Given the description of an element on the screen output the (x, y) to click on. 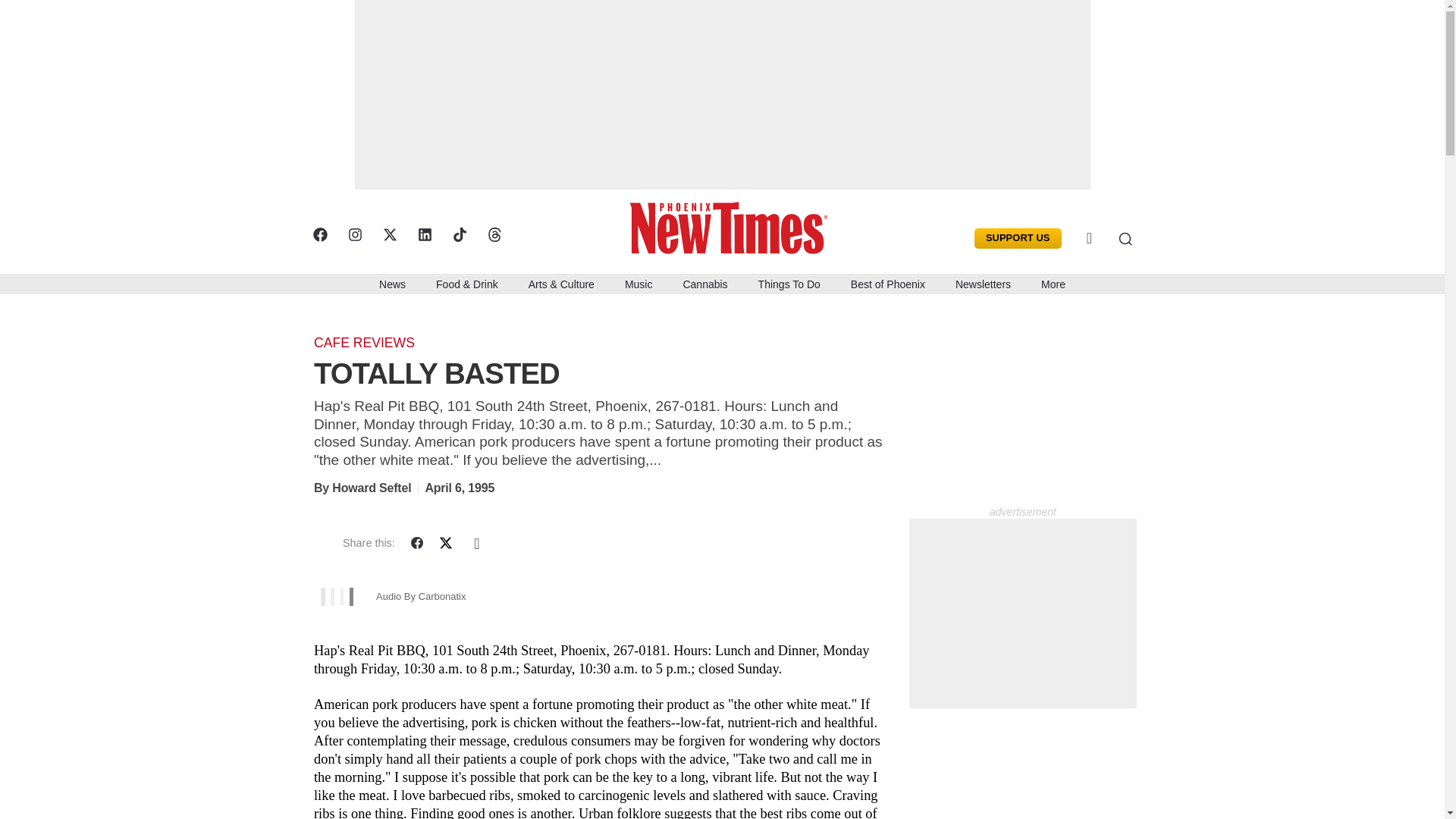
twitter (388, 234)
tiktok (458, 234)
instagram (354, 234)
facebook (319, 234)
Search (1113, 237)
SUPPORT US (1017, 238)
News (392, 283)
Phoenix New Times (731, 226)
threads (493, 234)
linkedin (423, 234)
